Given the description of an element on the screen output the (x, y) to click on. 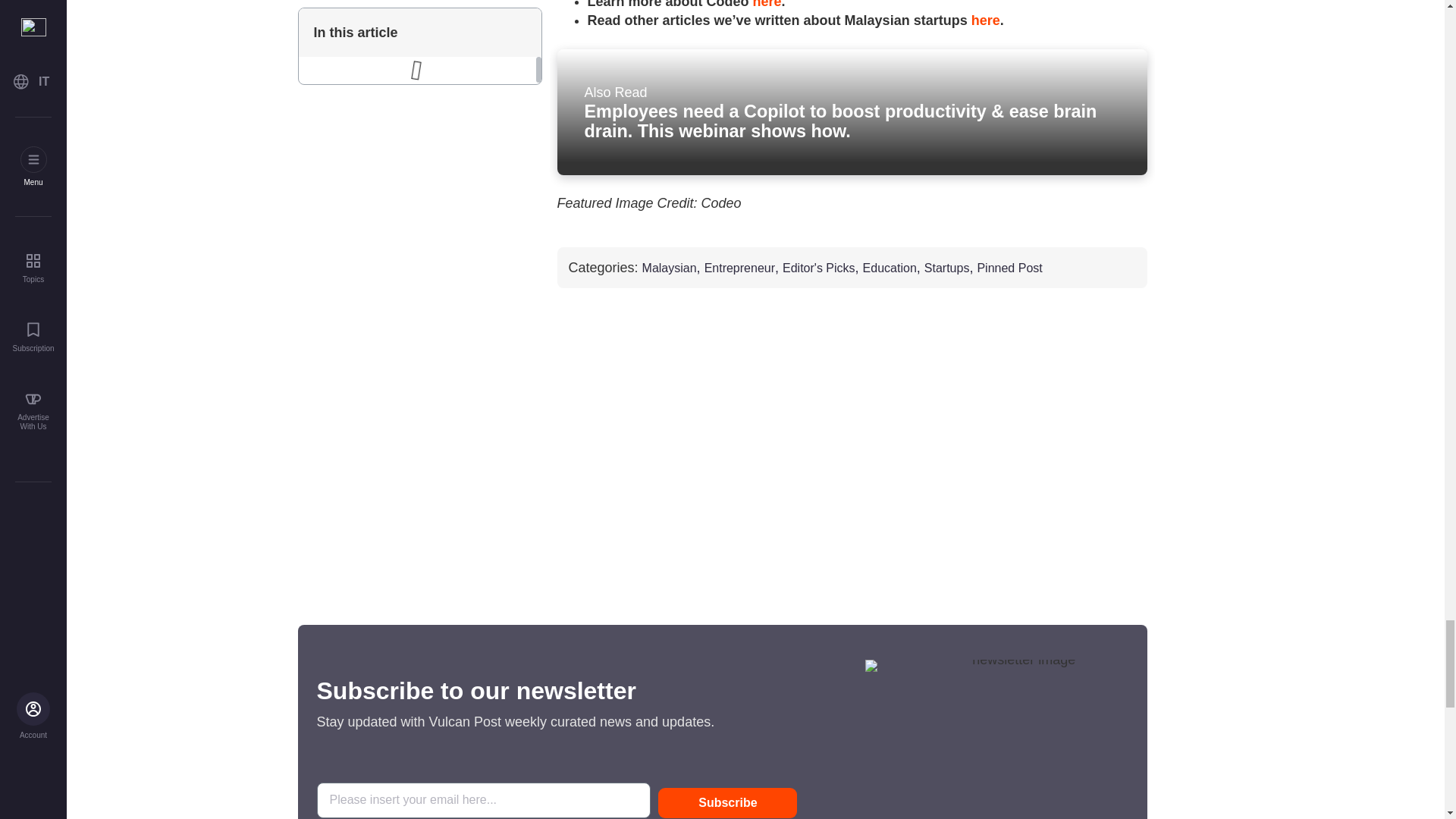
Pinned Post (1009, 268)
Entrepreneur (739, 268)
Malaysian (669, 268)
Startups (946, 268)
Subscribe (727, 802)
Education (890, 268)
here (766, 4)
here (985, 20)
Editor's Picks (819, 268)
